Given the description of an element on the screen output the (x, y) to click on. 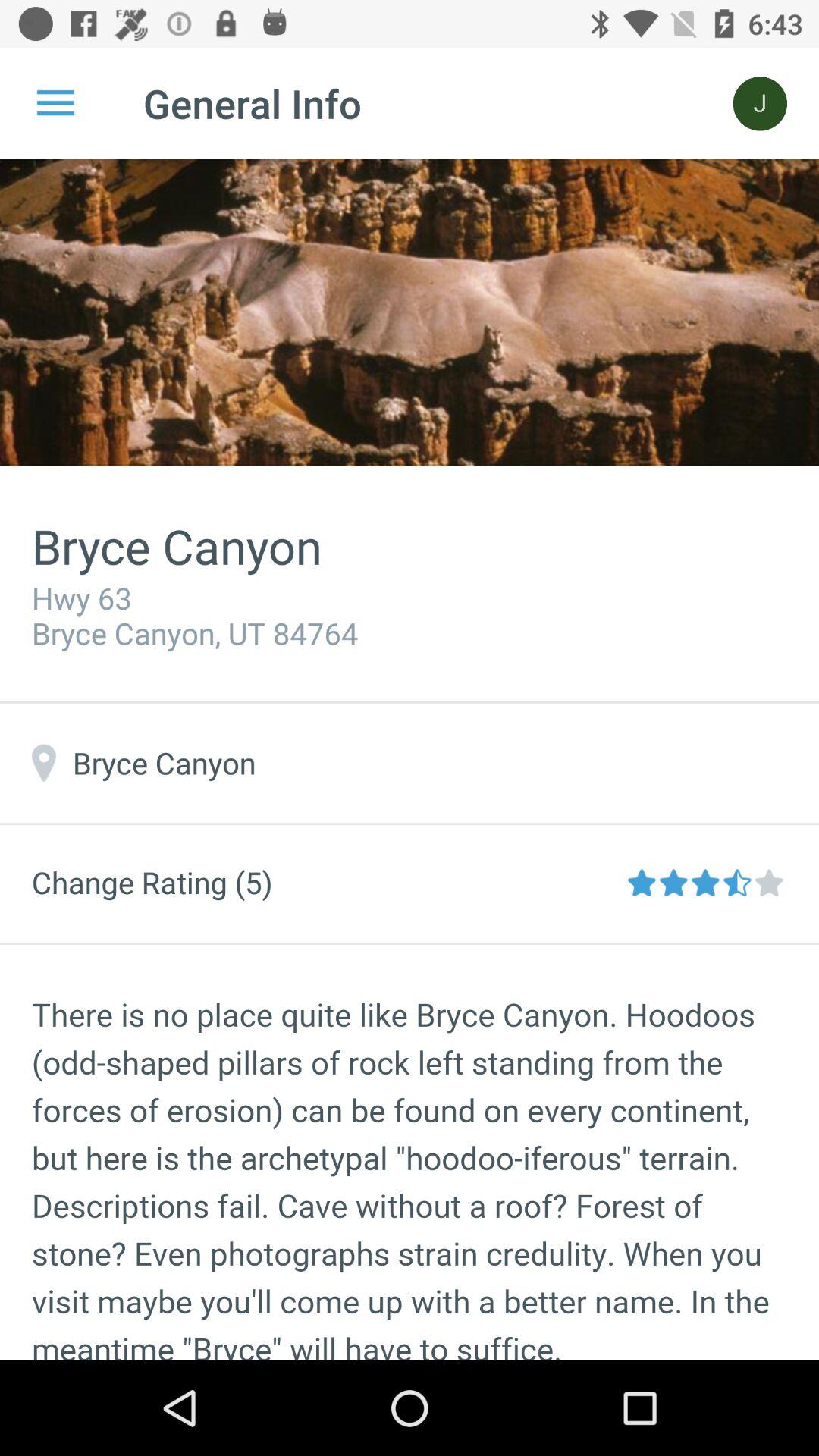
open icon to the left of general info item (55, 103)
